Given the description of an element on the screen output the (x, y) to click on. 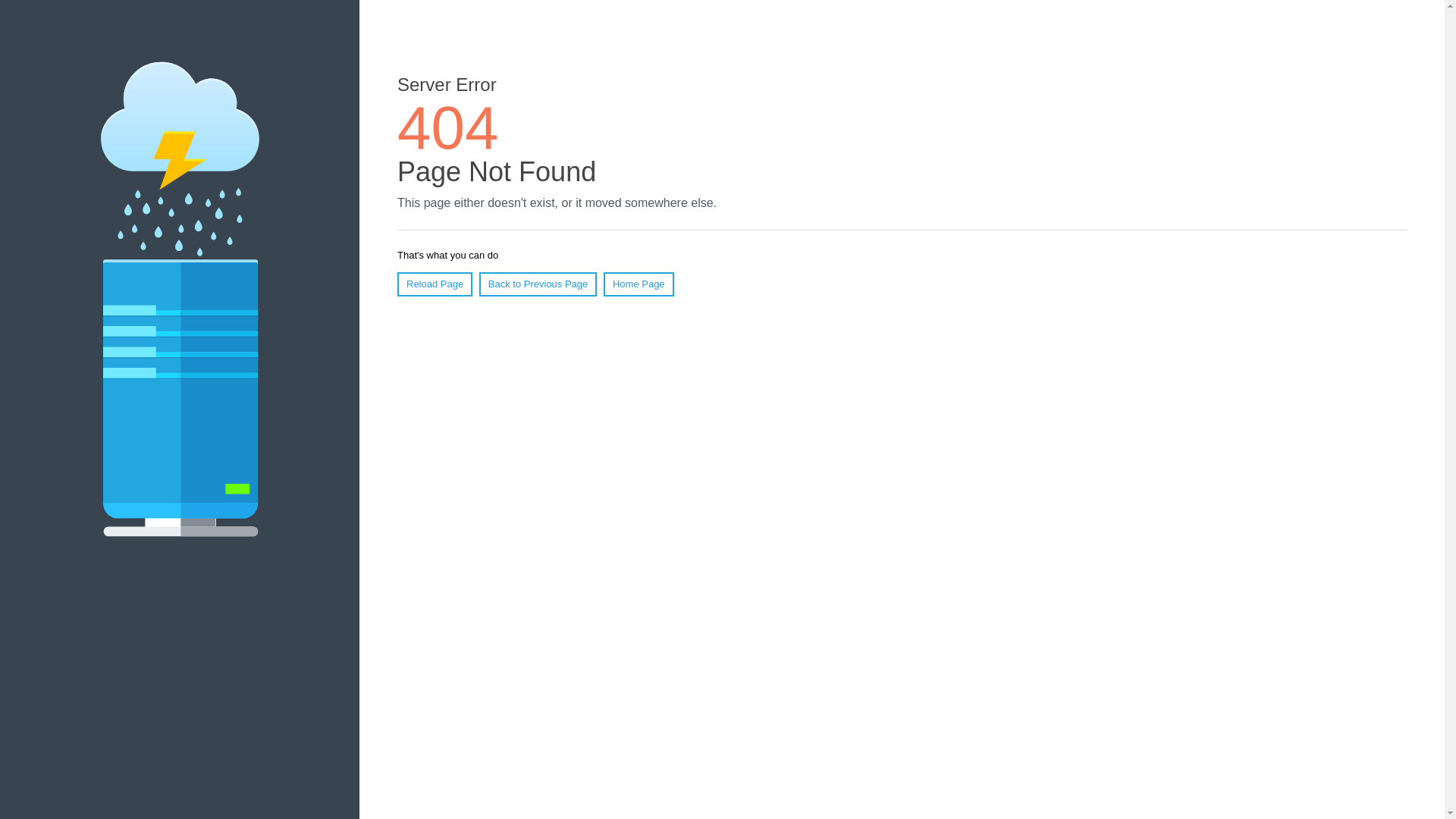
Home Page Element type: text (638, 284)
Back to Previous Page Element type: text (538, 284)
Reload Page Element type: text (434, 284)
